Given the description of an element on the screen output the (x, y) to click on. 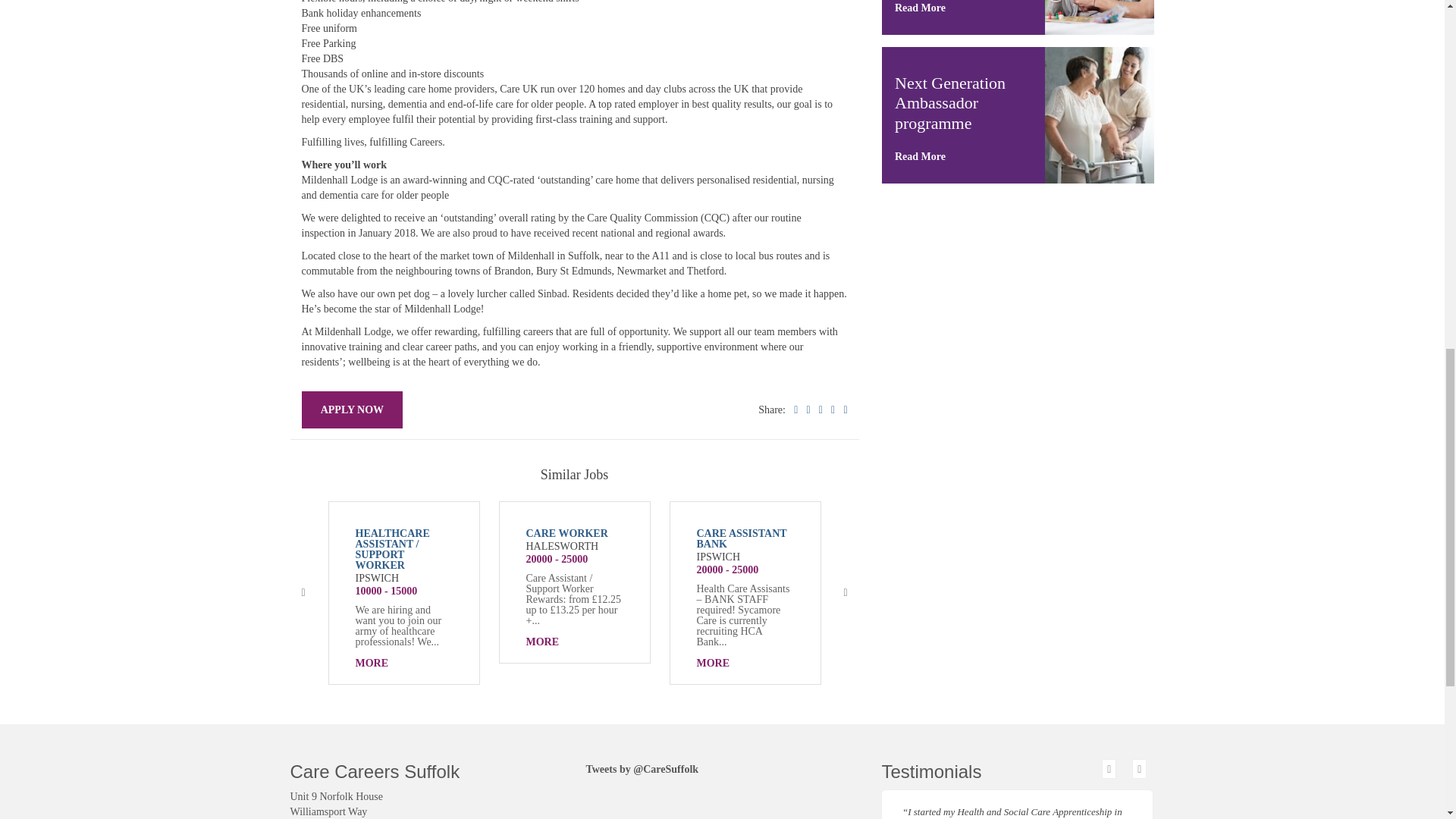
Apply Now (352, 409)
